Given the description of an element on the screen output the (x, y) to click on. 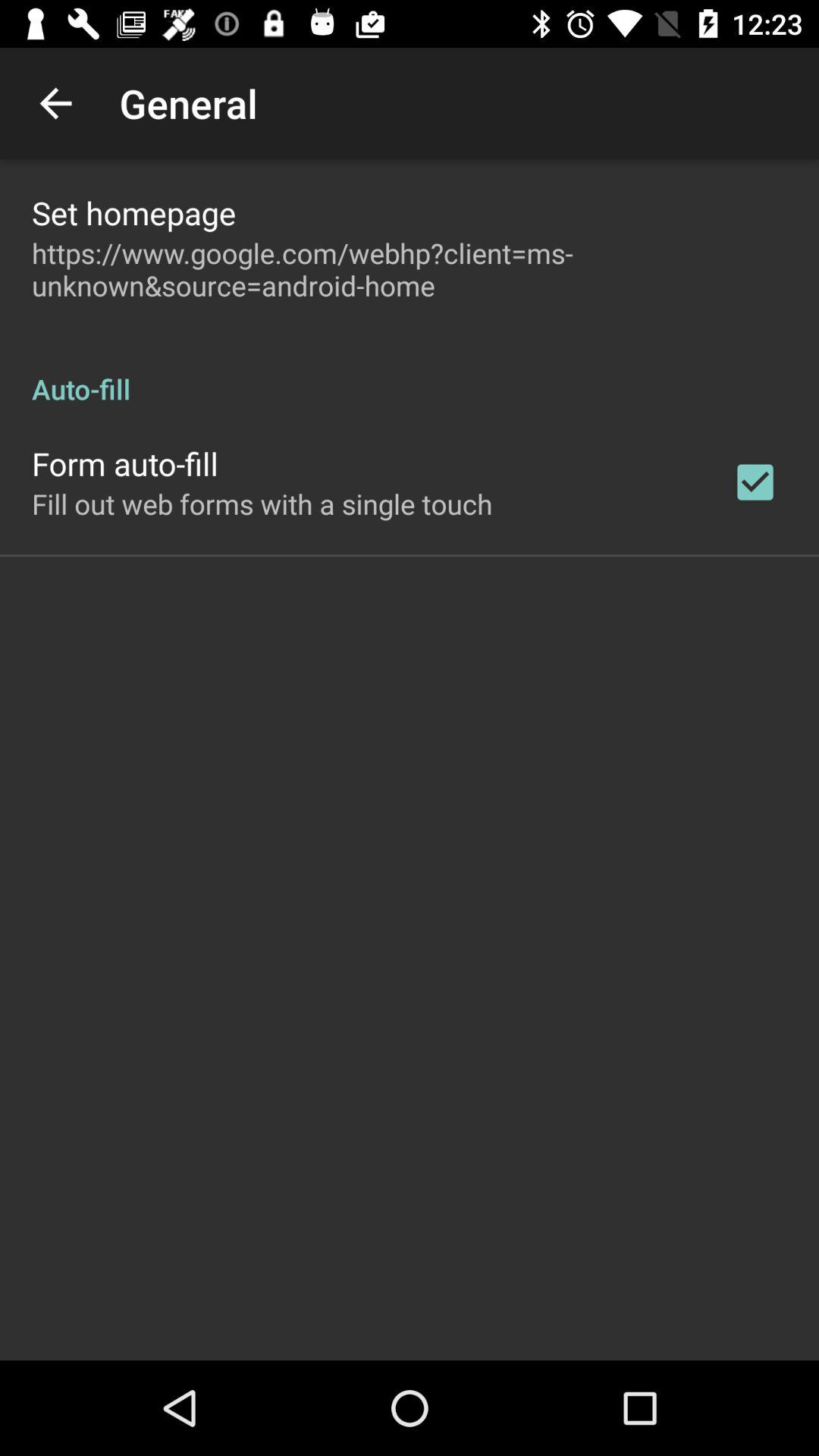
tap https www google item (409, 269)
